Given the description of an element on the screen output the (x, y) to click on. 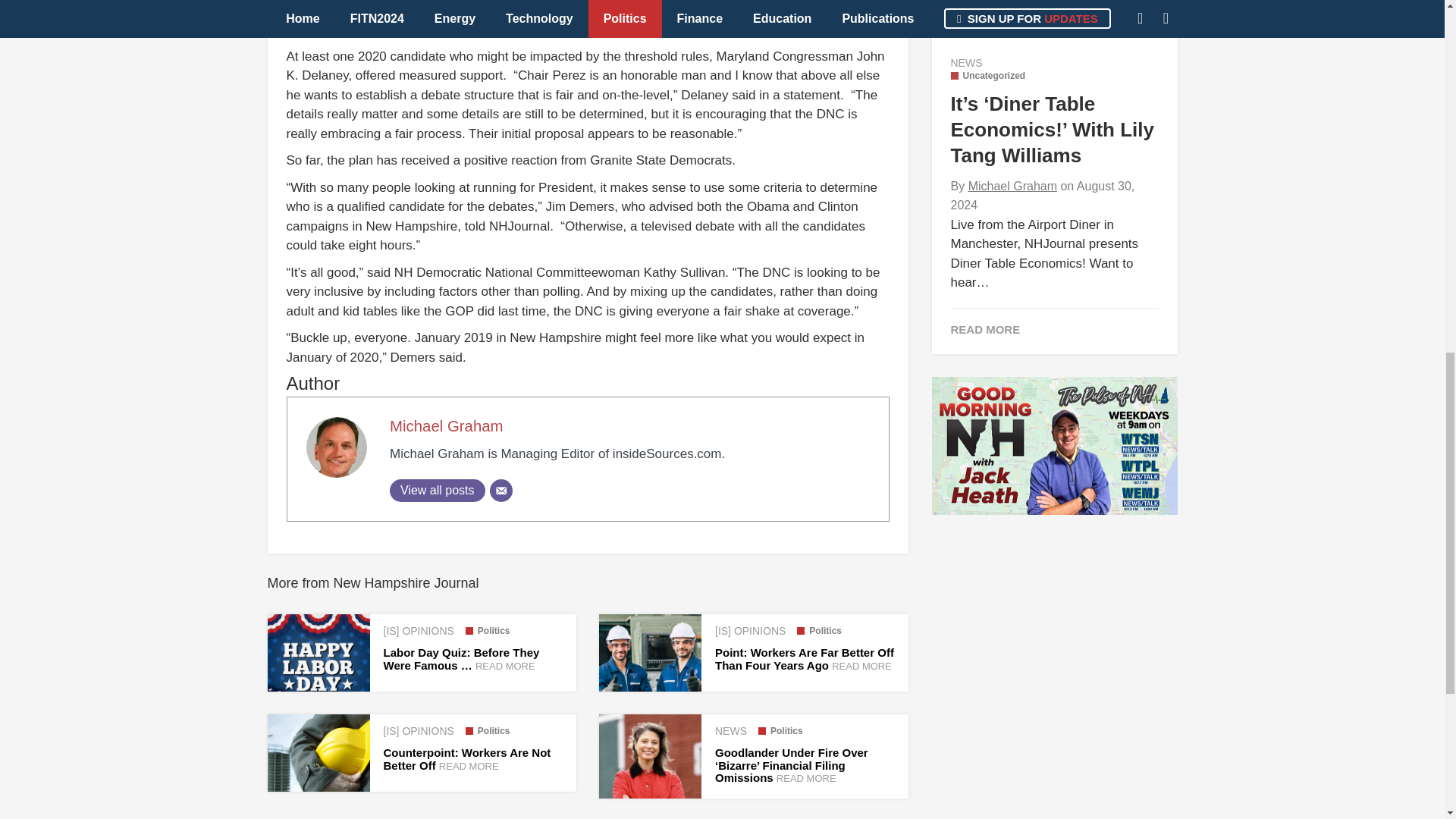
View all posts in Politics (818, 630)
View all posts in Politics (488, 730)
Posts by Michael Graham (1012, 185)
View all posts (437, 490)
View all posts (437, 490)
View all posts in Politics (488, 630)
Politics (818, 630)
Michael Graham (446, 425)
View all posts in Uncategorized (988, 75)
